Given the description of an element on the screen output the (x, y) to click on. 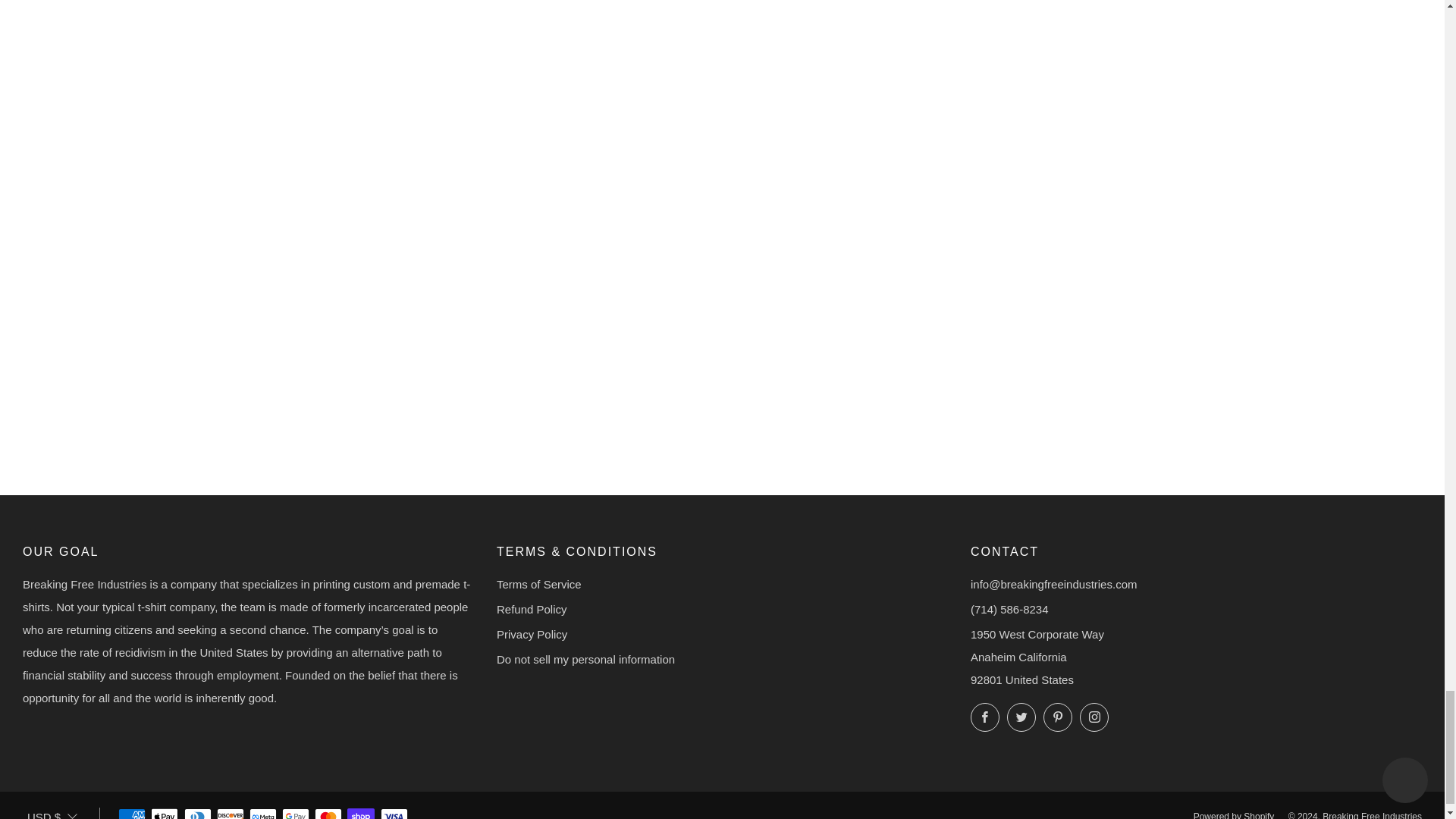
Discover (230, 809)
Mastercard (328, 809)
Meta Pay (262, 809)
Google Pay (295, 809)
Shop Pay (360, 809)
Apple Pay (164, 809)
Diners Club (197, 809)
American Express (131, 809)
Visa (393, 809)
